Given the description of an element on the screen output the (x, y) to click on. 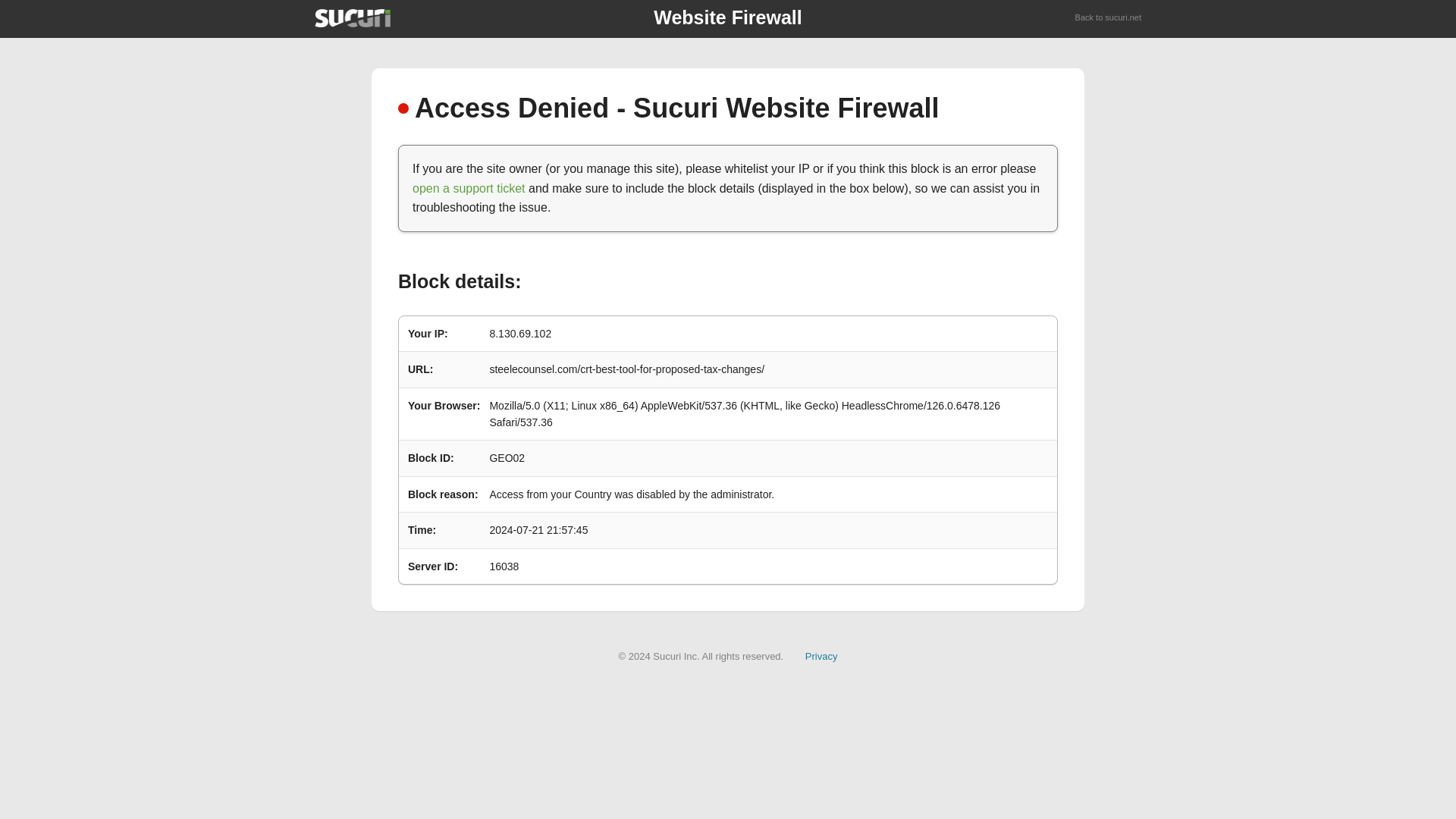
open a support ticket (468, 187)
Privacy (821, 655)
Back to sucuri.net (1108, 18)
